Given the description of an element on the screen output the (x, y) to click on. 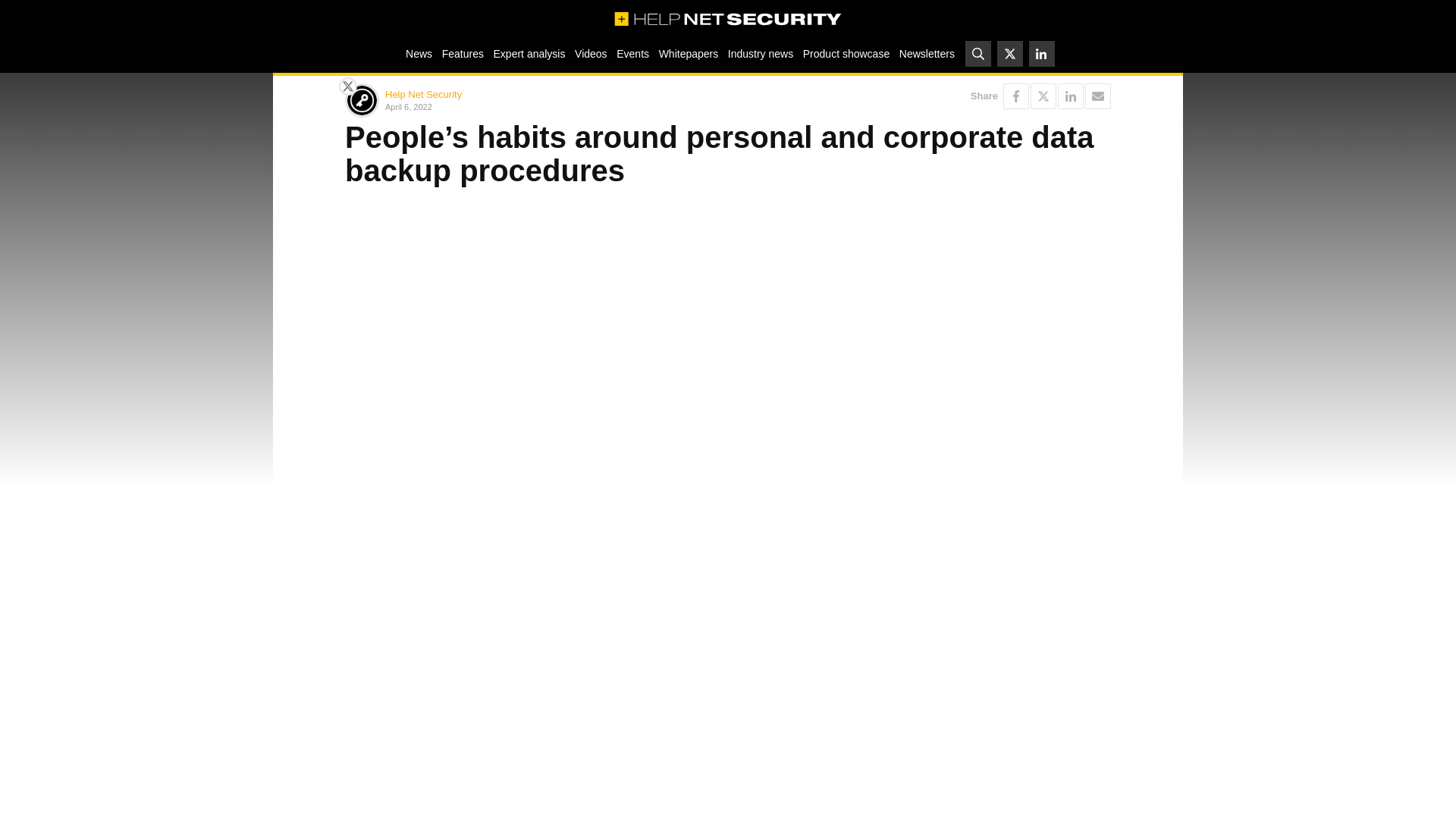
Events (632, 53)
April 6, 2022 (553, 106)
Industry news (760, 53)
Features (461, 53)
Whitepapers (687, 53)
Videos (590, 53)
Newsletters (926, 53)
Expert analysis (528, 53)
Product showcase (845, 53)
News (419, 53)
Help Net Security (423, 93)
